Given the description of an element on the screen output the (x, y) to click on. 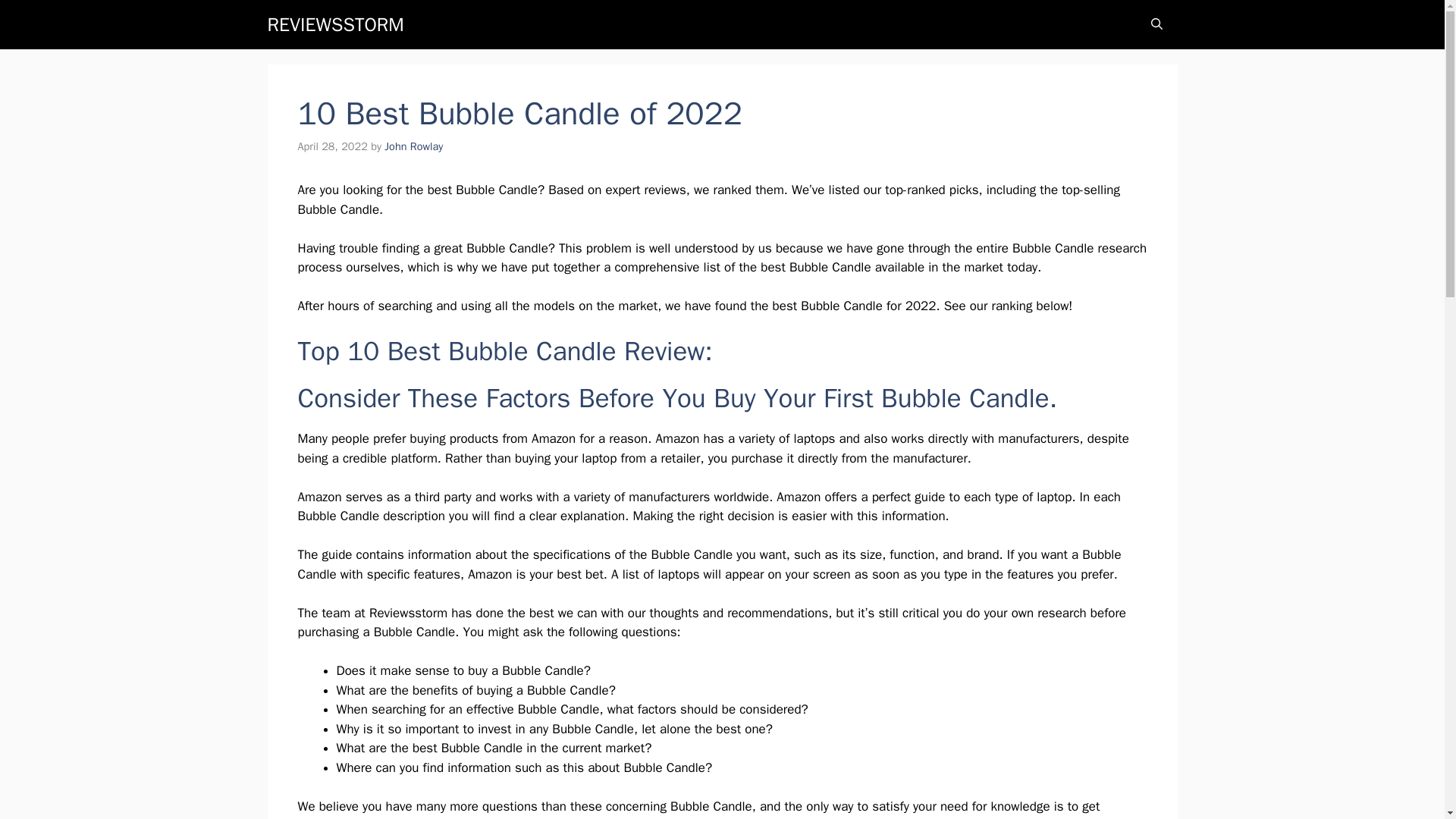
John Rowlay (413, 146)
View all posts by John Rowlay (413, 146)
REVIEWSSTORM (334, 24)
